Given the description of an element on the screen output the (x, y) to click on. 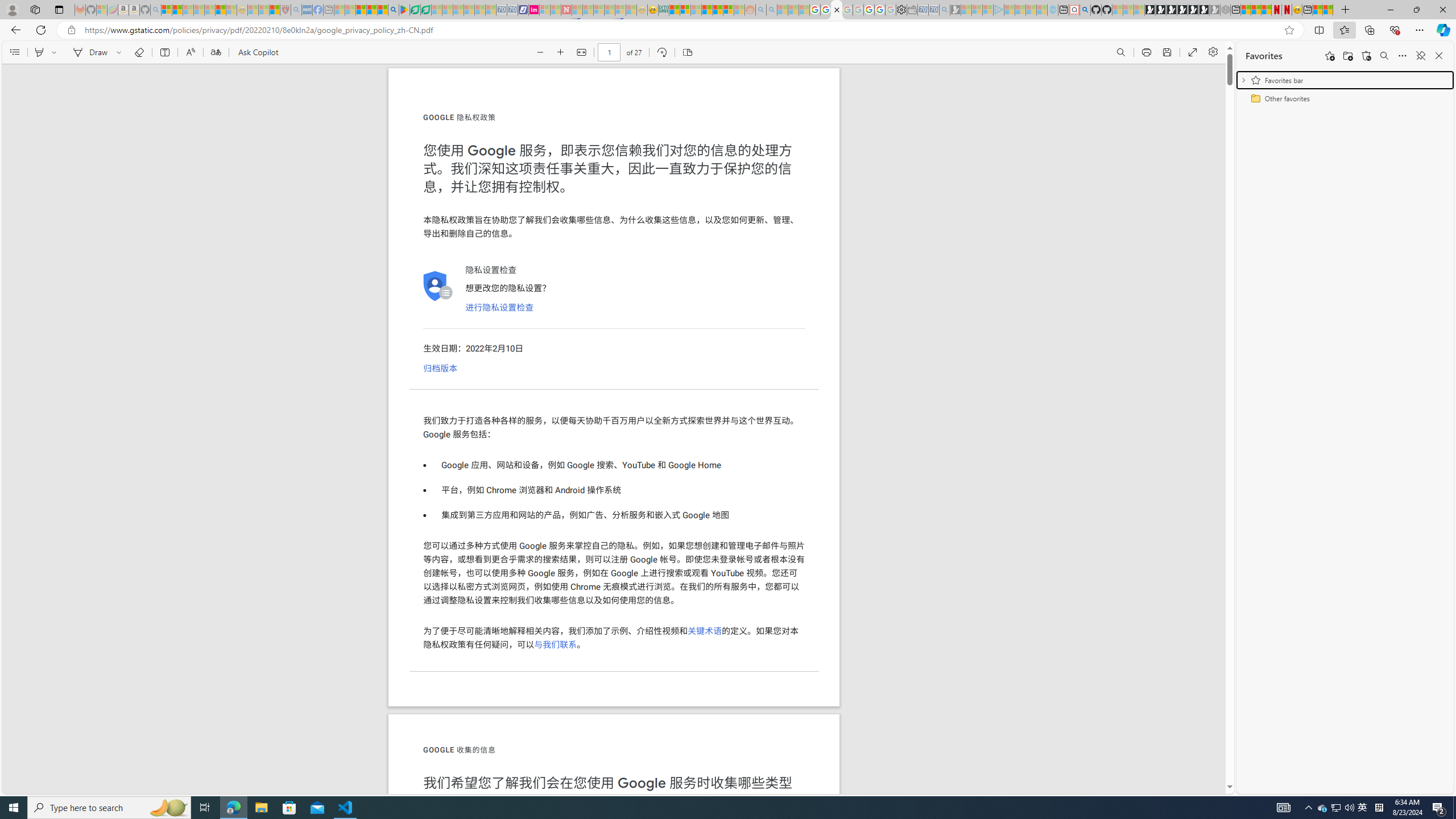
Terms of Use Agreement (414, 9)
Unpin favorites (1420, 55)
Zoom out (Ctrl+Minus key) (540, 52)
Add text (164, 52)
Save (Ctrl+S) (1166, 52)
